Given the description of an element on the screen output the (x, y) to click on. 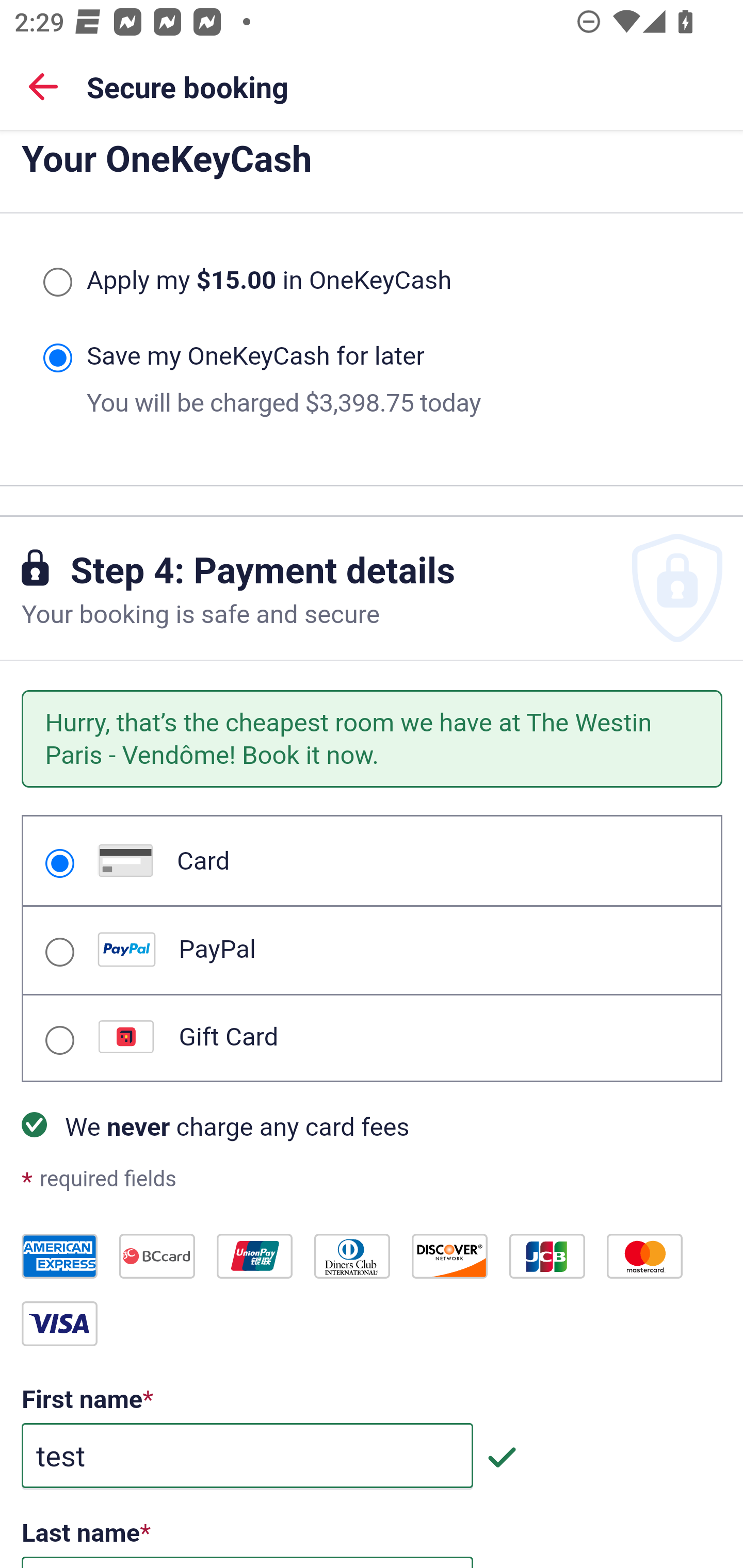
Back (43, 86)
Apply my $15.00 in OneKeyCash (57, 281)
Card (59, 863)
PayPal (59, 951)
Gift Card (59, 1041)
test (247, 1456)
